Given the description of an element on the screen output the (x, y) to click on. 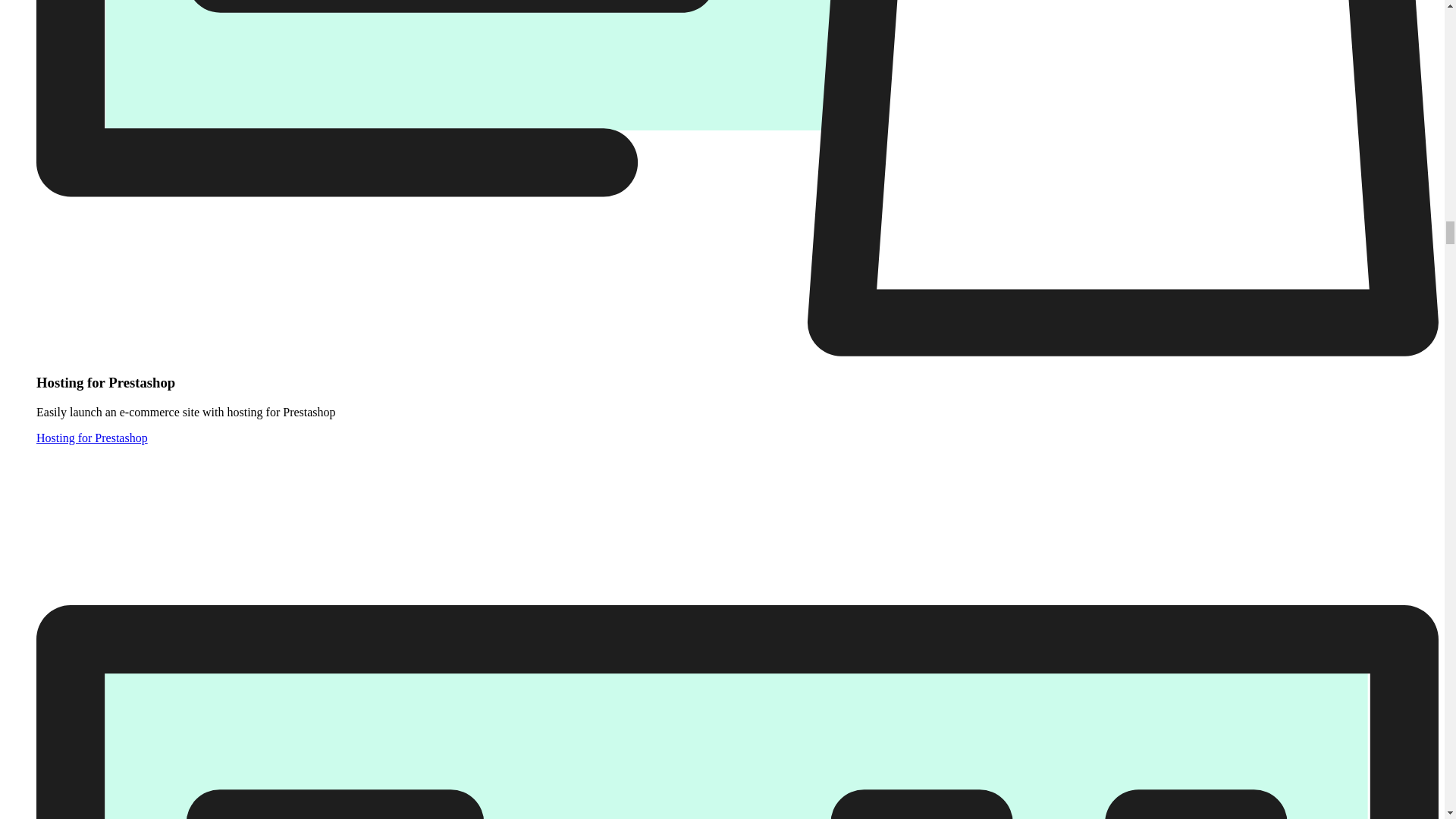
Hosting for Prestashop (92, 437)
